Given the description of an element on the screen output the (x, y) to click on. 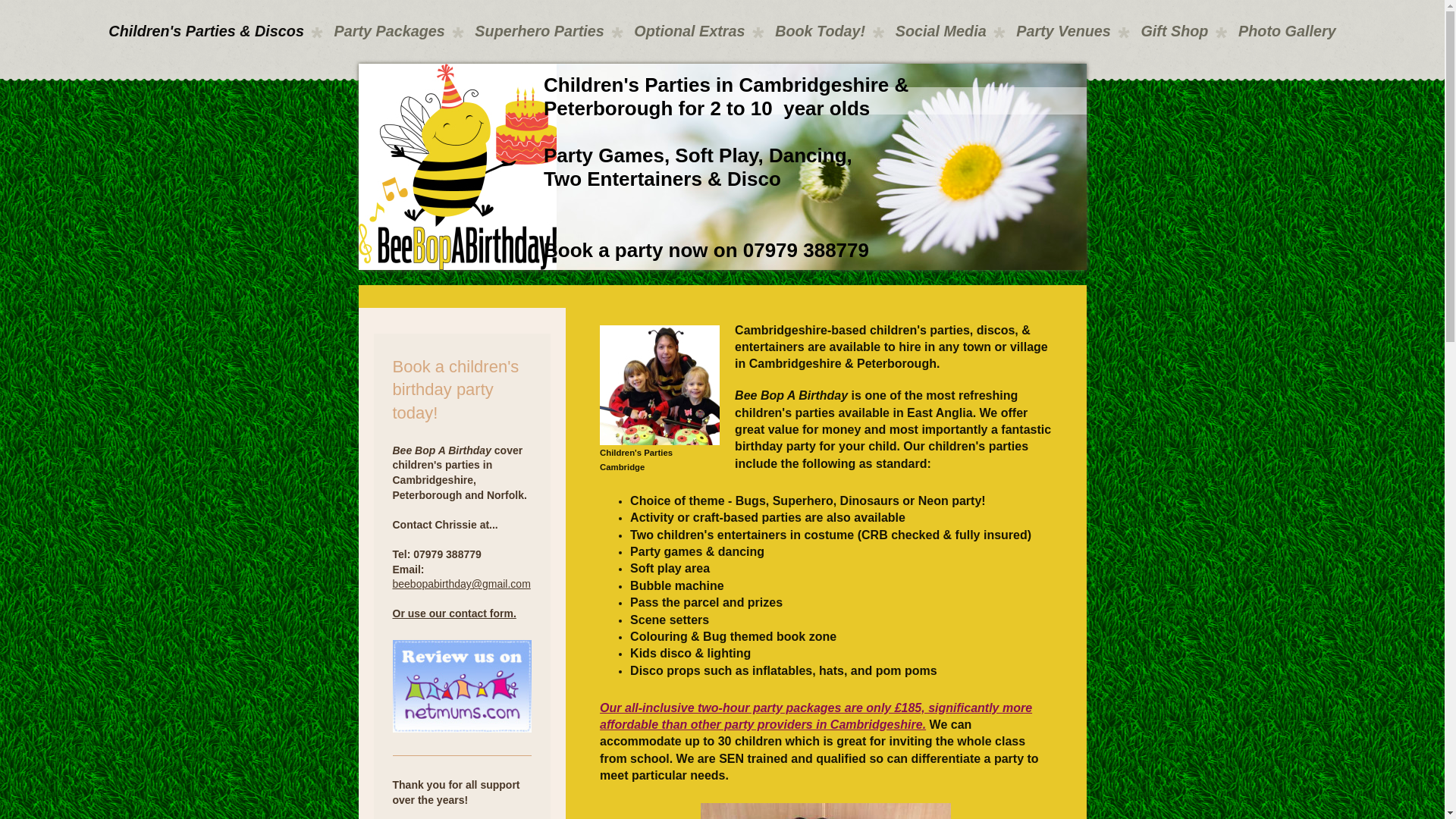
Social Media (940, 39)
Superhero Parties (540, 39)
Or use our contact form. (454, 613)
Photo Gallery (1287, 39)
Gift Shop (1174, 39)
Party Venues (1063, 39)
Children's Parties Cambridge (659, 390)
Book Today! (820, 39)
Optional Extras (690, 39)
Party Packages (389, 39)
